Given the description of an element on the screen output the (x, y) to click on. 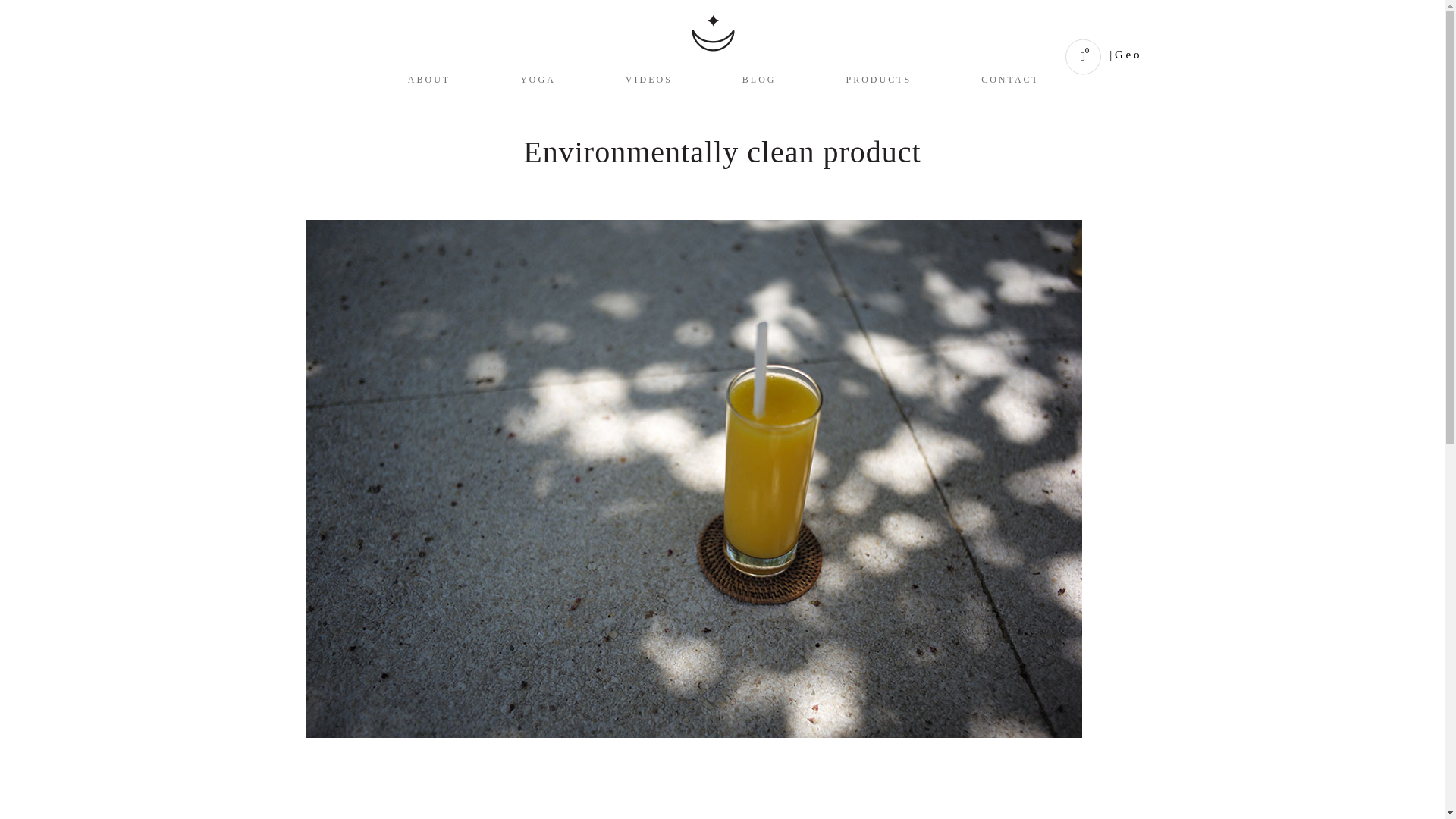
VIDEOS (682, 56)
ABOUT (463, 56)
PRODUCTS (913, 56)
YOGA (571, 56)
BLOG (793, 56)
CONTACT (1043, 56)
